Given the description of an element on the screen output the (x, y) to click on. 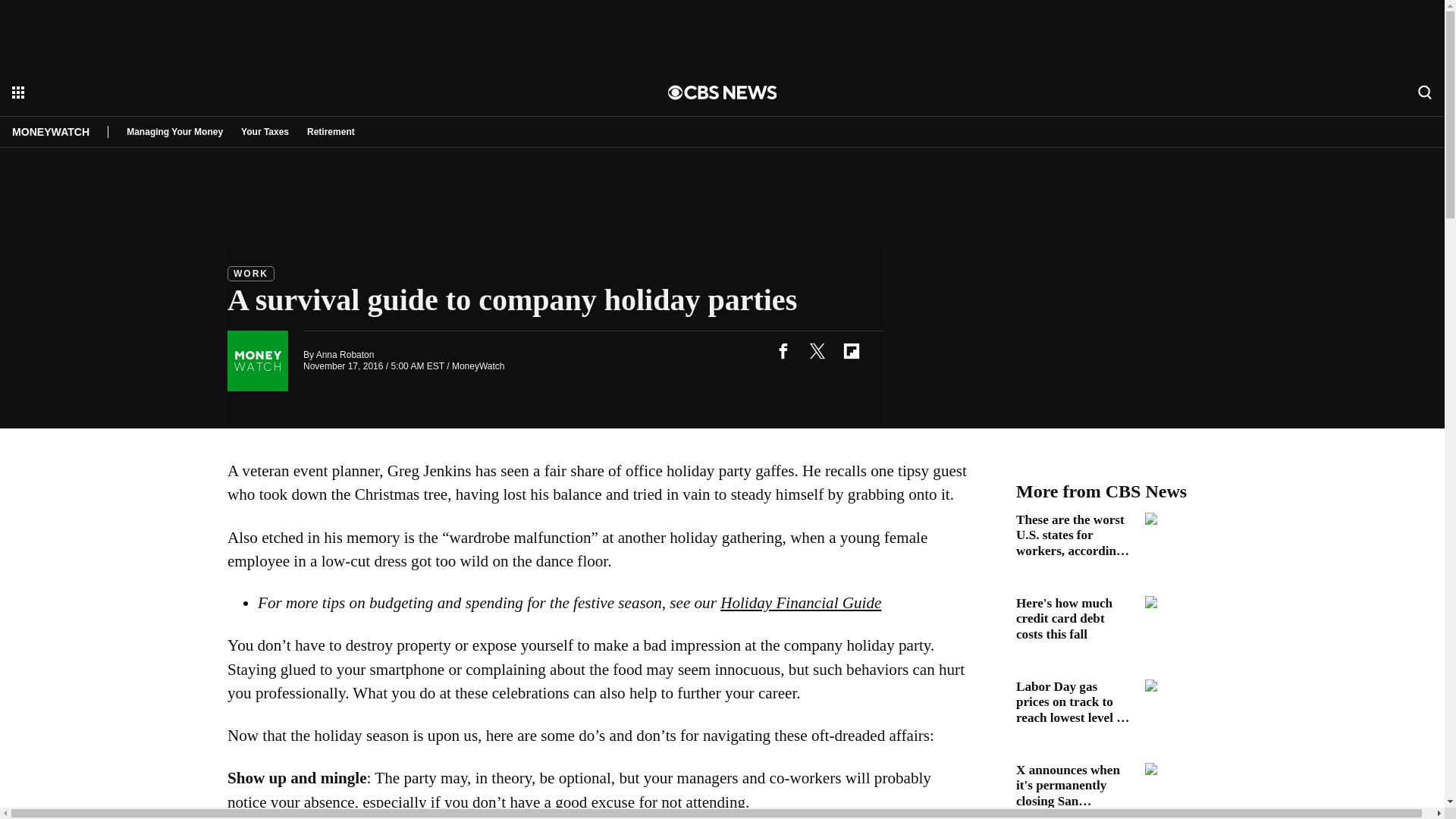
facebook (782, 350)
twitter (816, 350)
flipboard (850, 350)
